Given the description of an element on the screen output the (x, y) to click on. 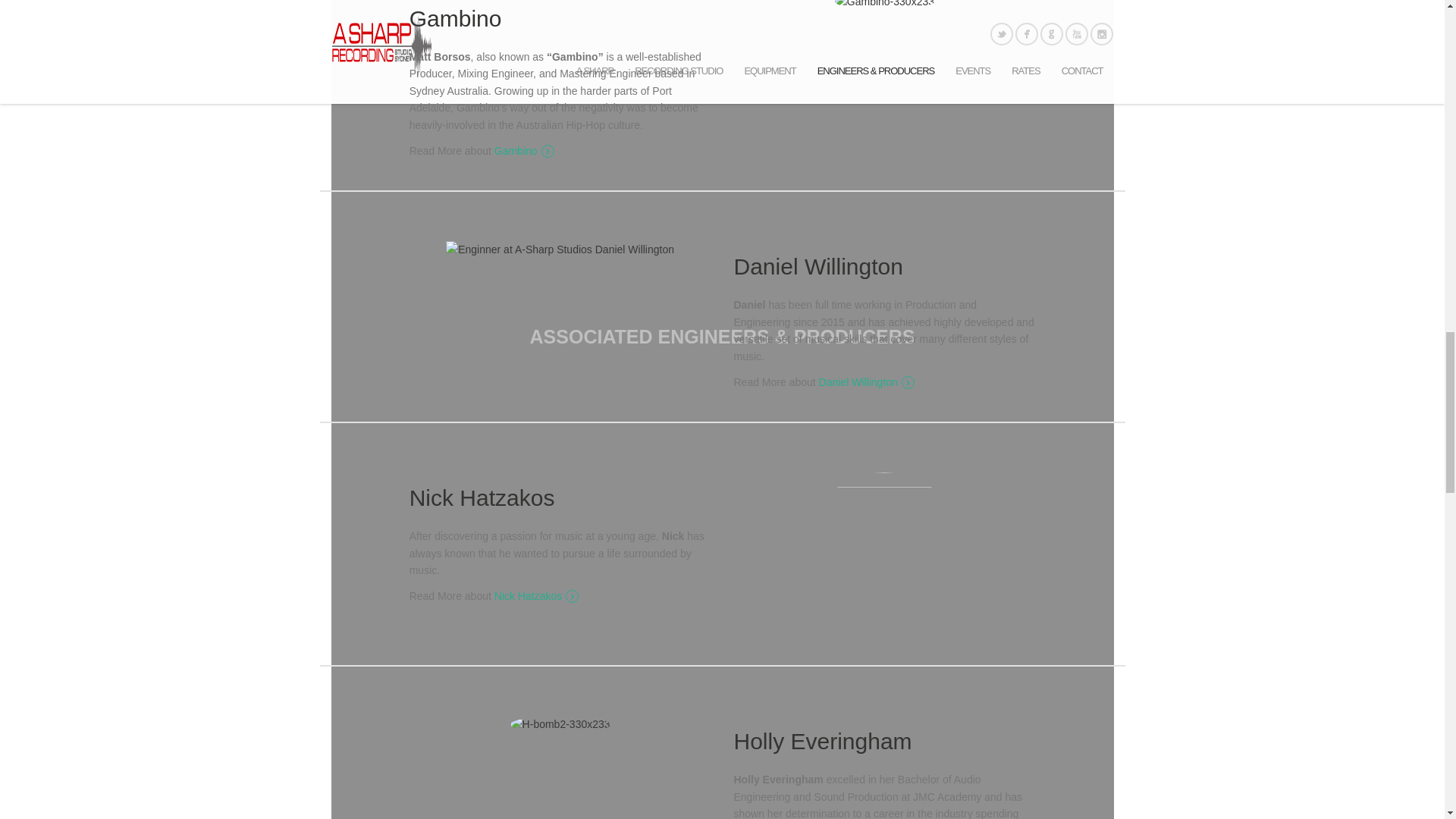
Gambino (524, 150)
a-sharp-recording-studio-engineer-daniel-willington (559, 248)
Daniel Willington (866, 381)
Gambino-330x233 (884, 4)
